Given the description of an element on the screen output the (x, y) to click on. 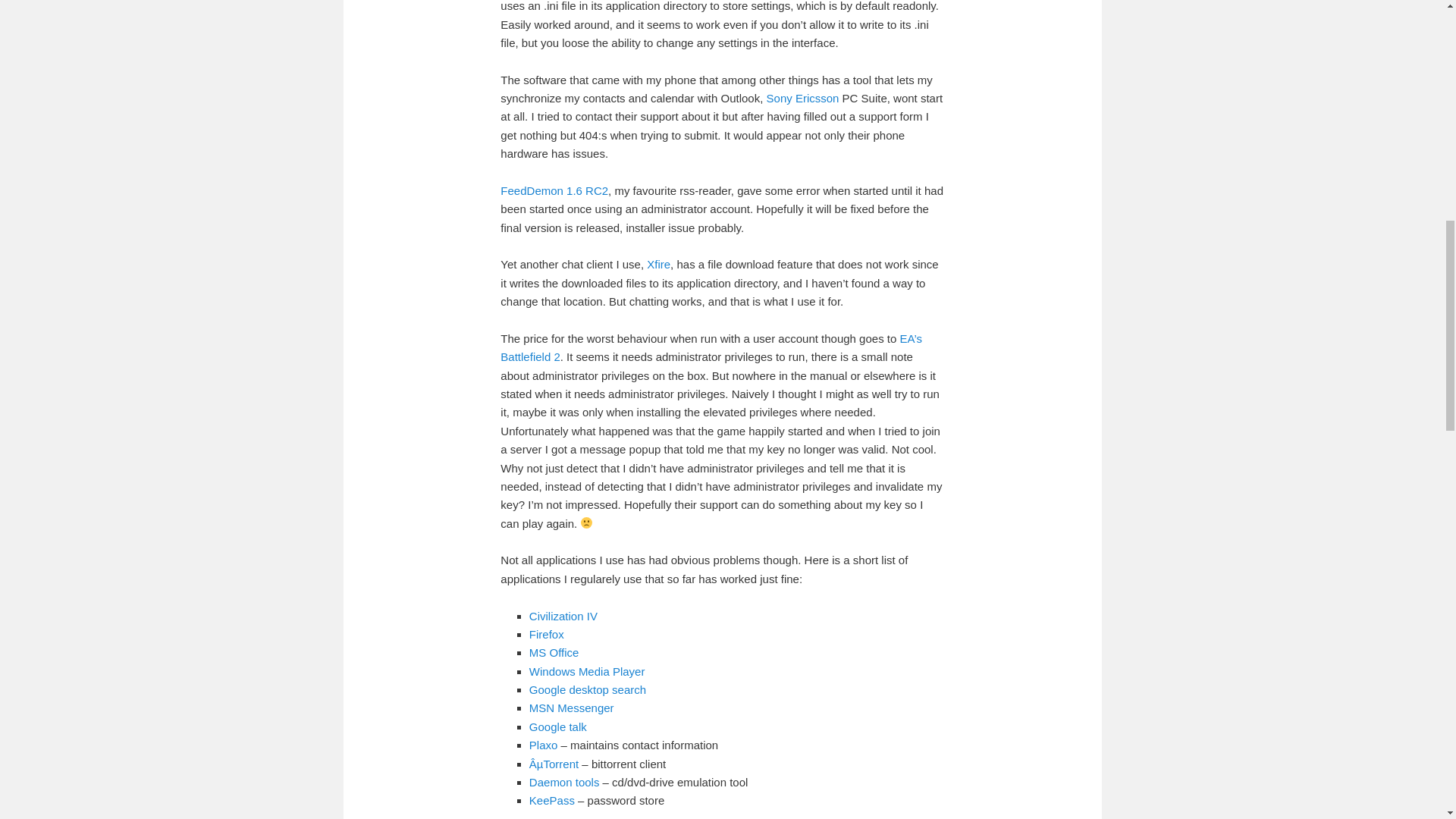
Windows Media Player (587, 671)
Daemon tools (564, 781)
Xfire (657, 264)
MS Office (554, 652)
Civilization IV (562, 615)
FeedDemon 1.6 RC2 (554, 190)
Firefox (546, 634)
MSN Messenger (571, 707)
KeePass (552, 799)
Plaxo (543, 744)
